Given the description of an element on the screen output the (x, y) to click on. 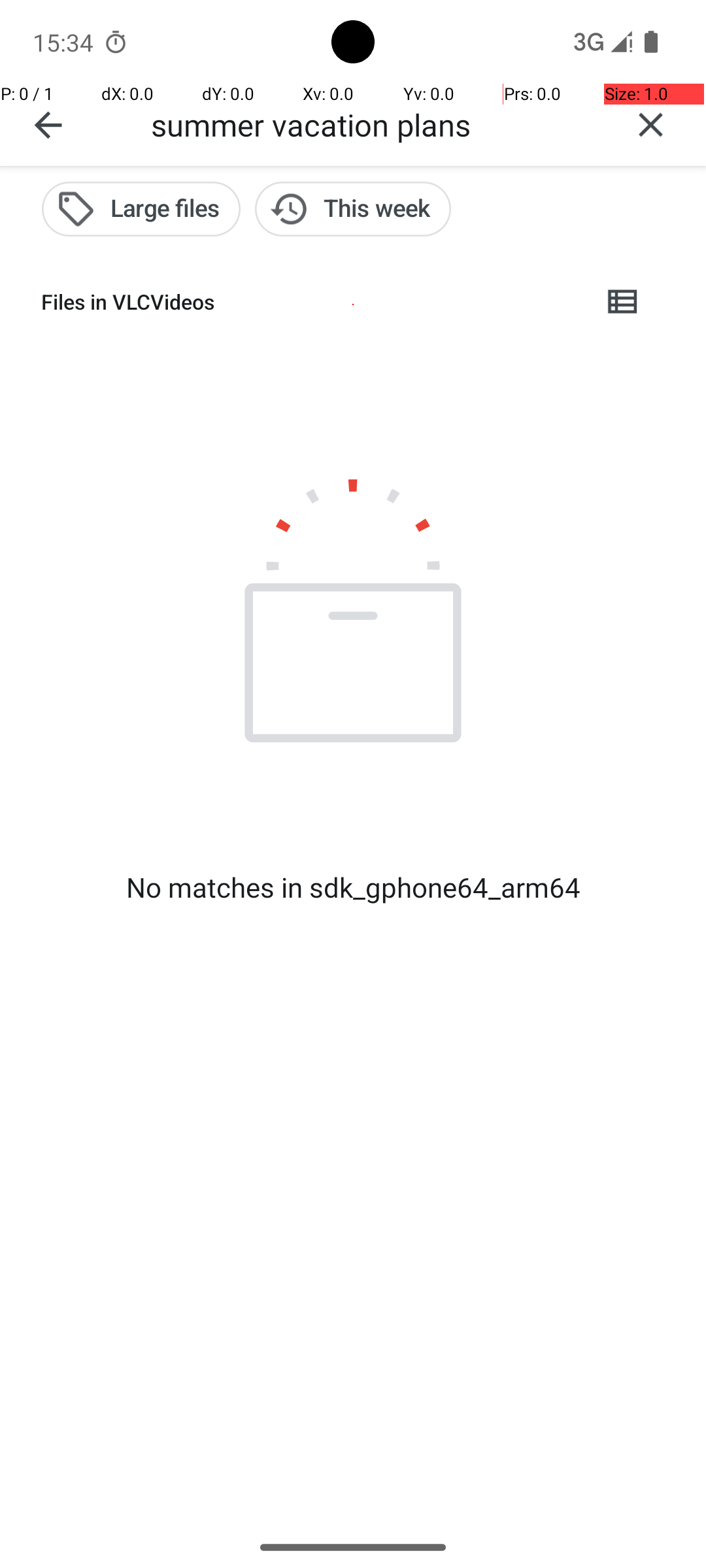
Files in VLCVideos Element type: android.widget.TextView (311, 301)
summer vacation plans Element type: android.widget.AutoCompleteTextView (373, 124)
No matches in sdk_gphone64_arm64 Element type: android.widget.TextView (352, 886)
